Given the description of an element on the screen output the (x, y) to click on. 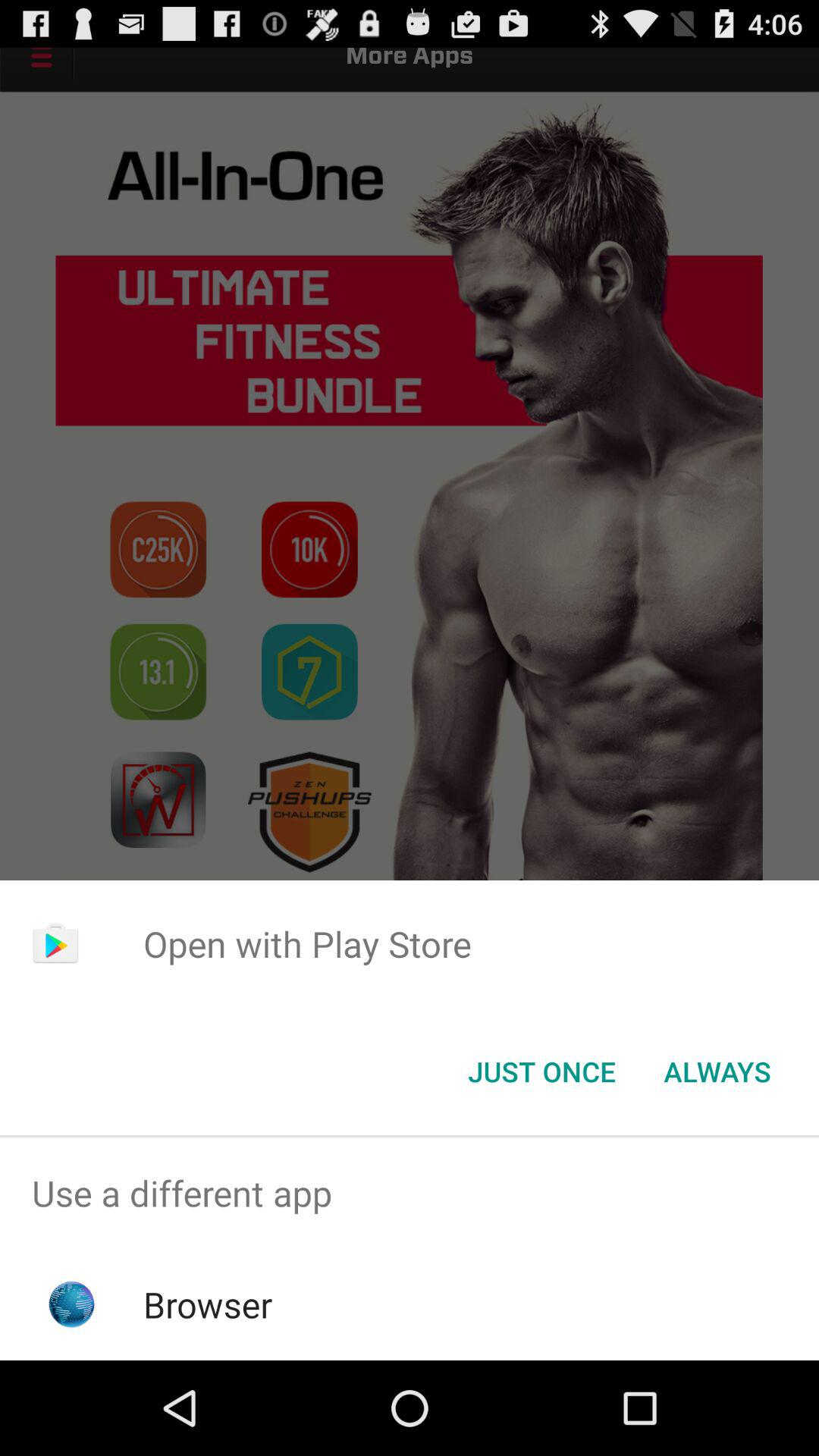
jump to the just once icon (541, 1071)
